Given the description of an element on the screen output the (x, y) to click on. 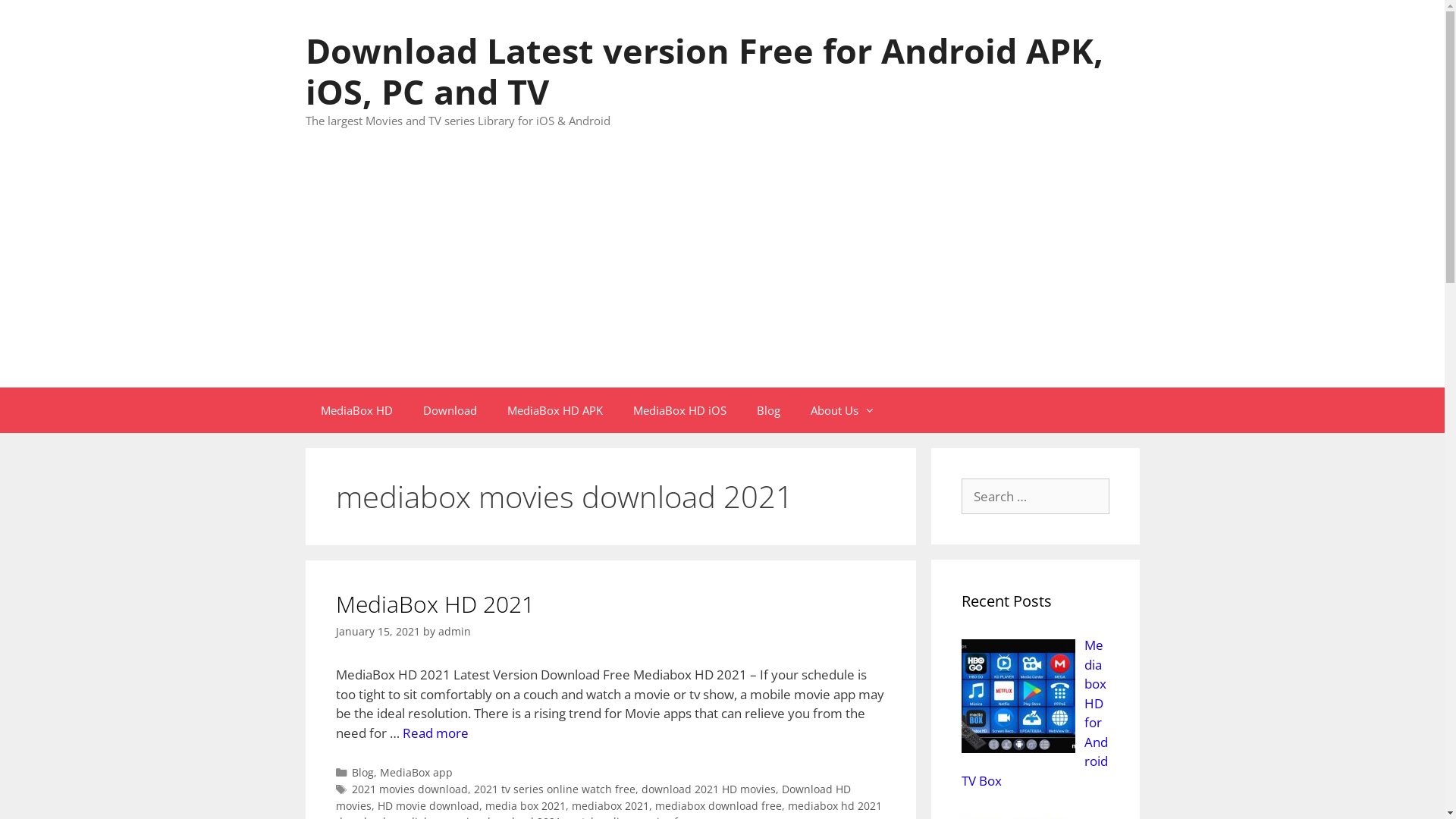
Blog Element type: text (768, 409)
mediabox download free Element type: text (718, 805)
Read more Element type: text (434, 732)
MediaBox HD 2021 Element type: text (434, 603)
Search for: Element type: hover (1035, 495)
MediaBox app Element type: text (415, 772)
MediaBox HD iOS Element type: text (678, 409)
Download HD movies Element type: text (592, 796)
2021 movies download Element type: text (409, 788)
download 2021 HD movies Element type: text (708, 788)
Download Element type: text (449, 409)
admin Element type: text (454, 631)
media box 2021 Element type: text (525, 805)
HD movie download Element type: text (428, 805)
Blog Element type: text (362, 772)
Mediabox HD for Android TV Box Element type: text (1034, 712)
About Us Element type: text (841, 409)
Search Element type: text (36, 18)
MediaBox HD Element type: text (355, 409)
Advertisement Element type: hover (721, 272)
Download Latest version Free for Android APK, iOS, PC and TV Element type: text (703, 70)
mediabox 2021 Element type: text (610, 805)
2021 tv series online watch free Element type: text (554, 788)
MediaBox HD APK Element type: text (554, 409)
